Given the description of an element on the screen output the (x, y) to click on. 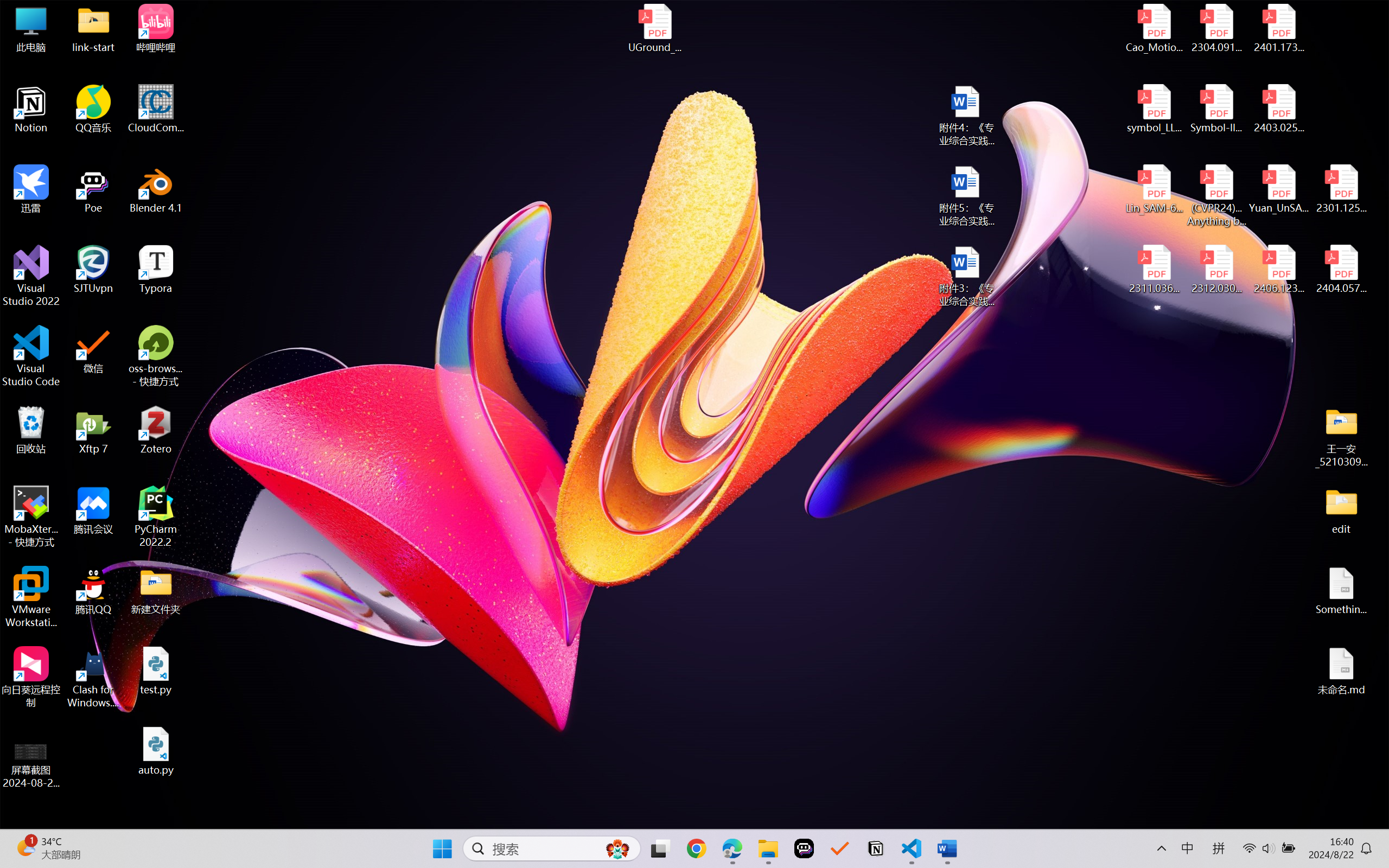
2403.02502v1.pdf (1278, 109)
Something.md (1340, 591)
auto.py (156, 751)
2301.12597v3.pdf (1340, 189)
PyCharm 2022.2 (156, 516)
Blender 4.1 (156, 189)
Visual Studio 2022 (31, 276)
